Given the description of an element on the screen output the (x, y) to click on. 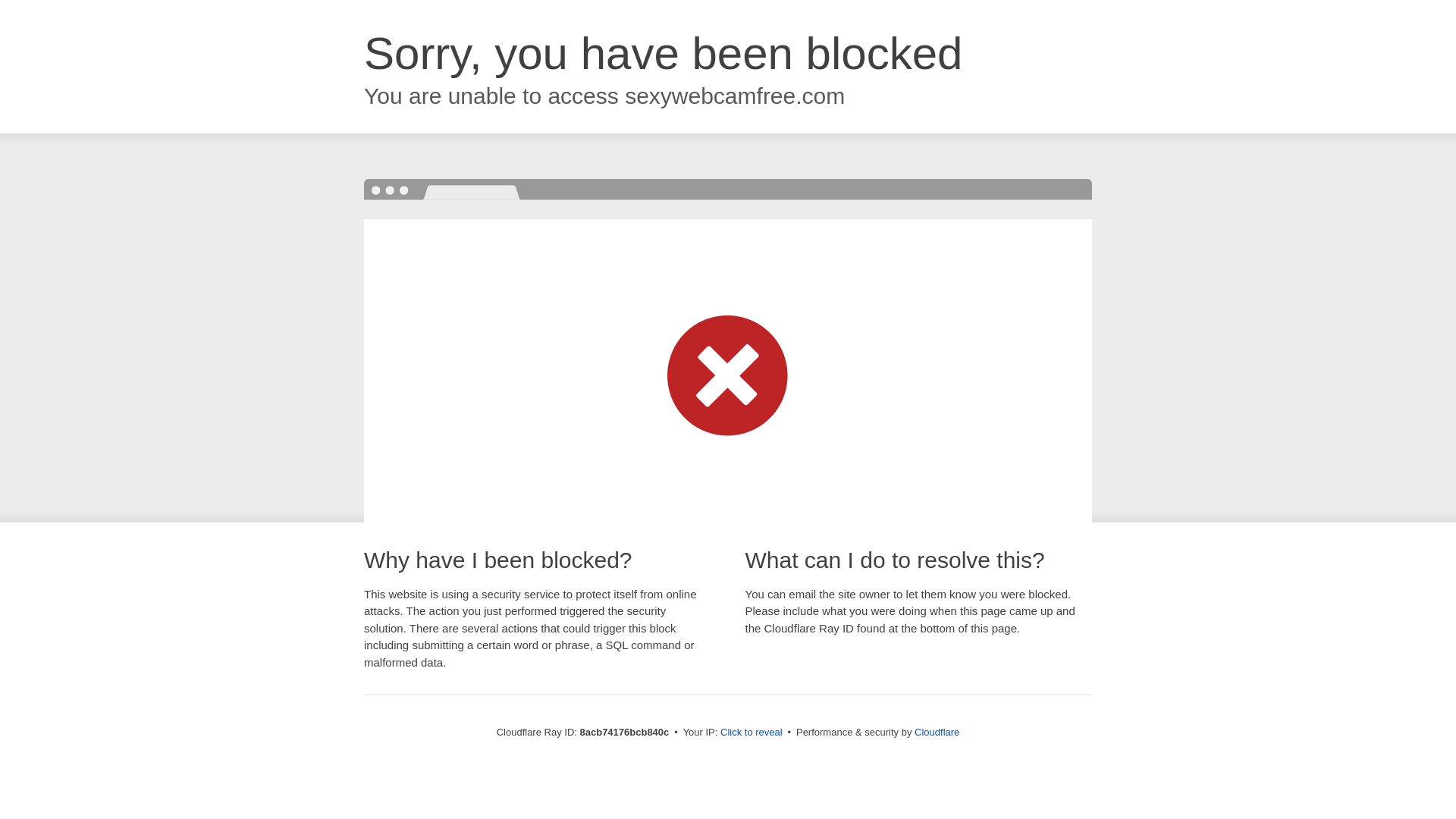
Cloudflare (936, 731)
Click to reveal (751, 732)
